Given the description of an element on the screen output the (x, y) to click on. 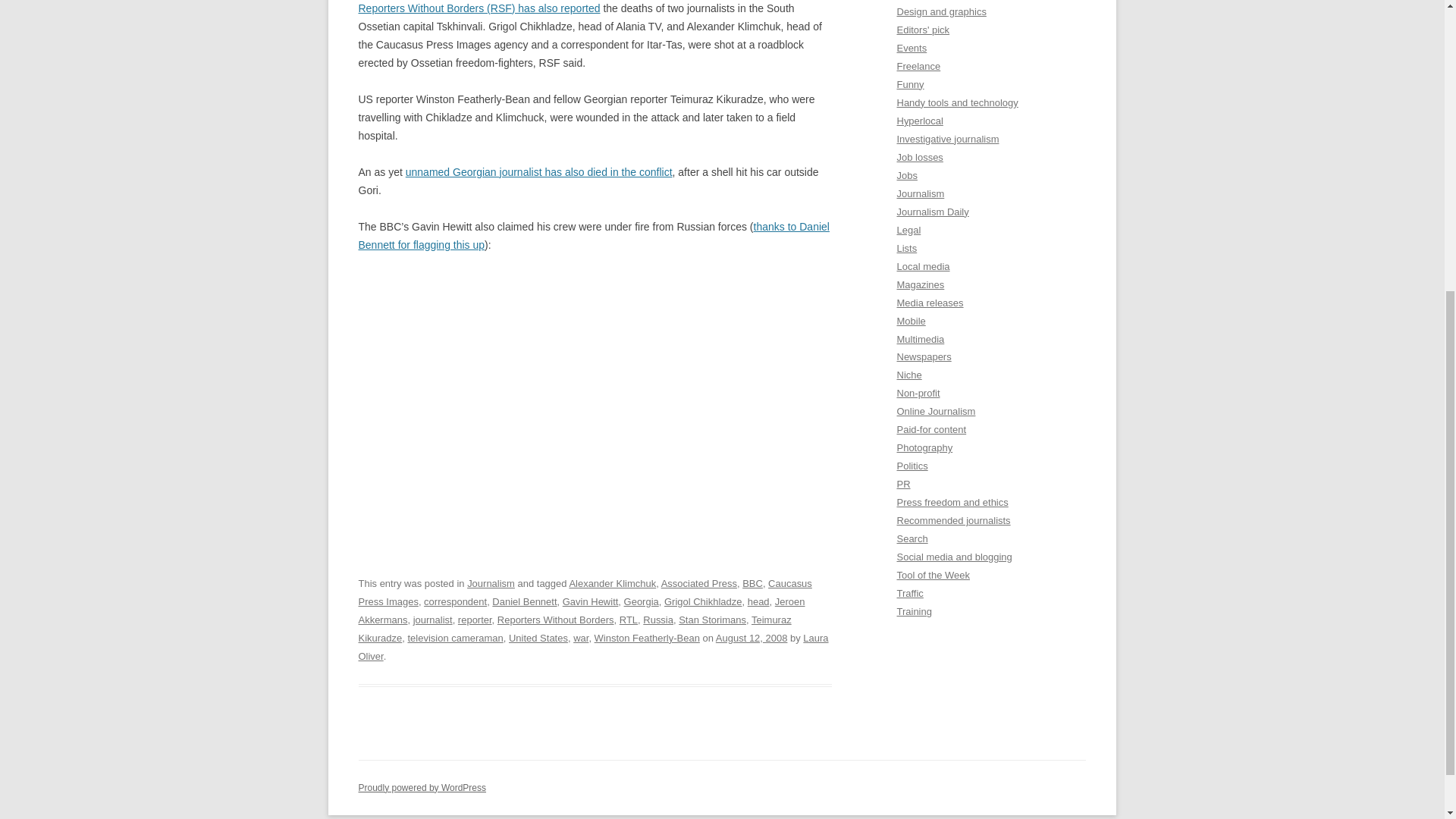
journalist (432, 619)
Caucasus Press Images (584, 592)
Teimuraz Kikuradze (574, 628)
Jeroen Akkermans (581, 610)
Gavin Hewitt (590, 601)
Grigol Chikhladze (702, 601)
4:12 pm (751, 637)
Daniel Bennett (524, 601)
head (759, 601)
reporter (475, 619)
Journalism (491, 583)
Alexander Klimchuk (612, 583)
Winston Featherly-Bean (647, 637)
unnamed Georgian journalist has also died in the conflict (539, 172)
RTL (628, 619)
